Given the description of an element on the screen output the (x, y) to click on. 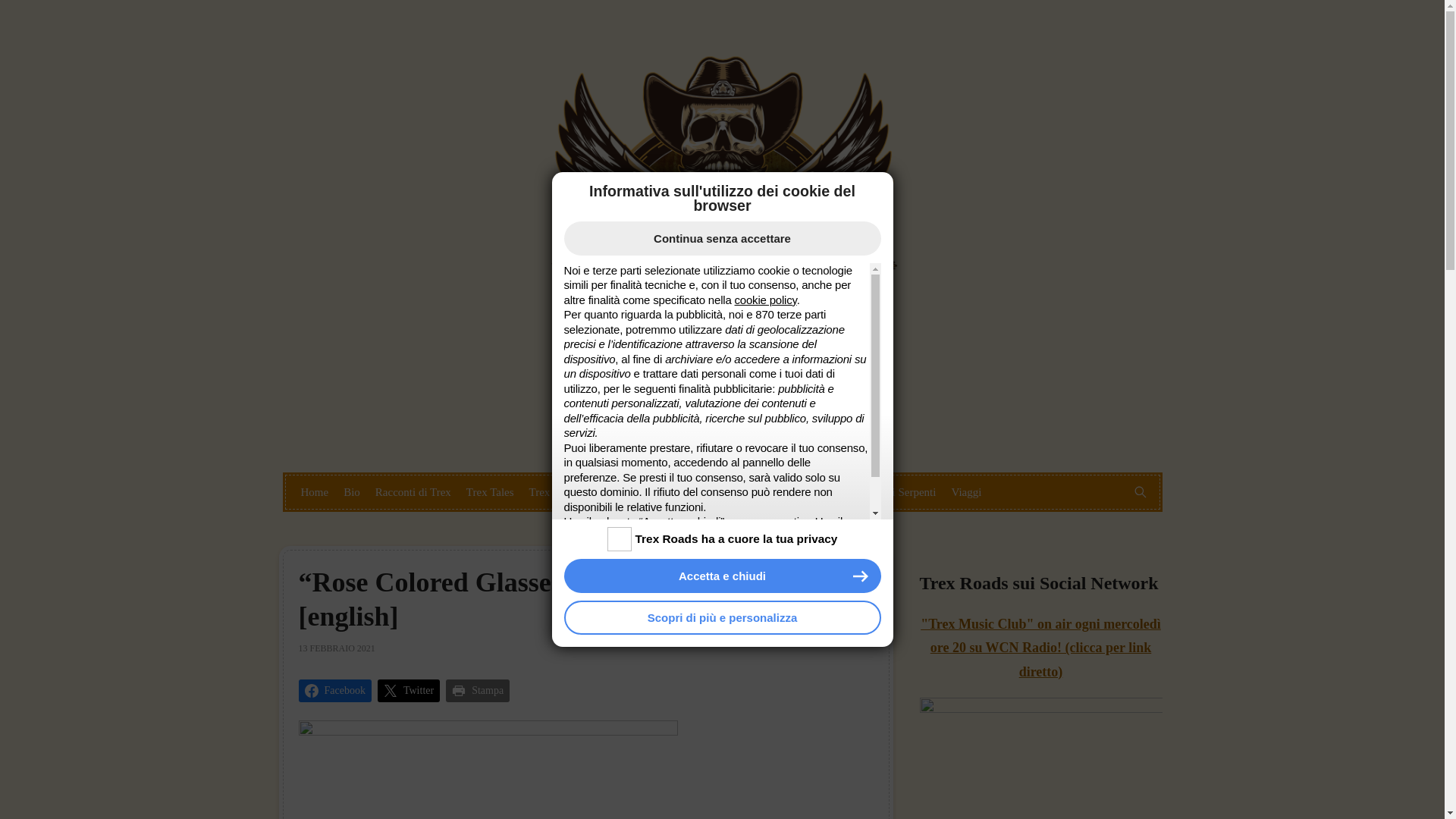
Facebook (700, 447)
Twitter (408, 690)
Viaggi (965, 491)
13 FEBBRAIO 2021 (336, 648)
Facebook (334, 690)
Trex Tips (550, 491)
Home (314, 491)
Racconti di Trex (413, 491)
La Fattoria dei Serpenti (882, 491)
Trex Tales (489, 491)
